Given the description of an element on the screen output the (x, y) to click on. 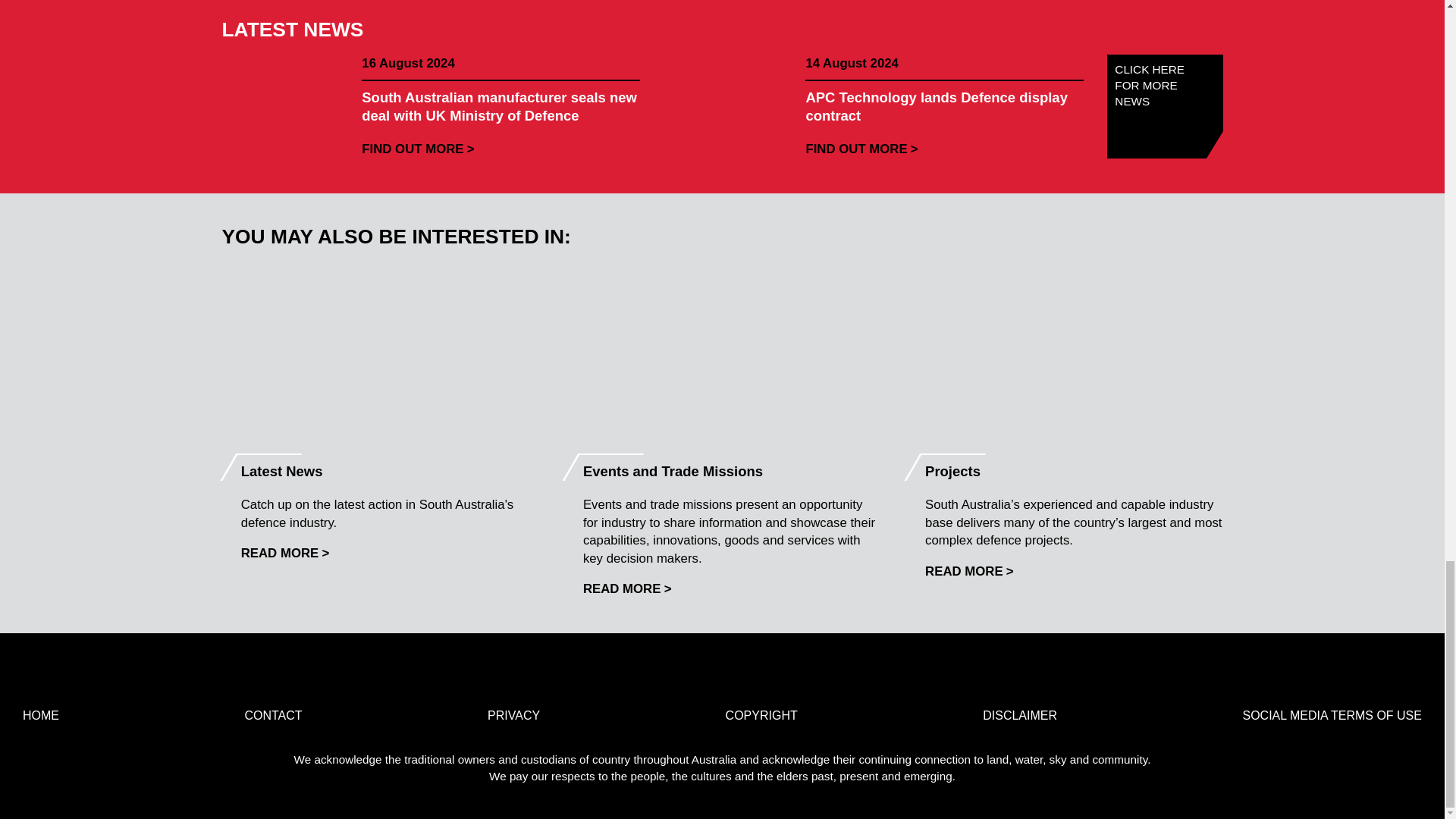
View: Projects (968, 571)
View: Events and Trade Missions (627, 588)
View: Latest News (285, 553)
